Given the description of an element on the screen output the (x, y) to click on. 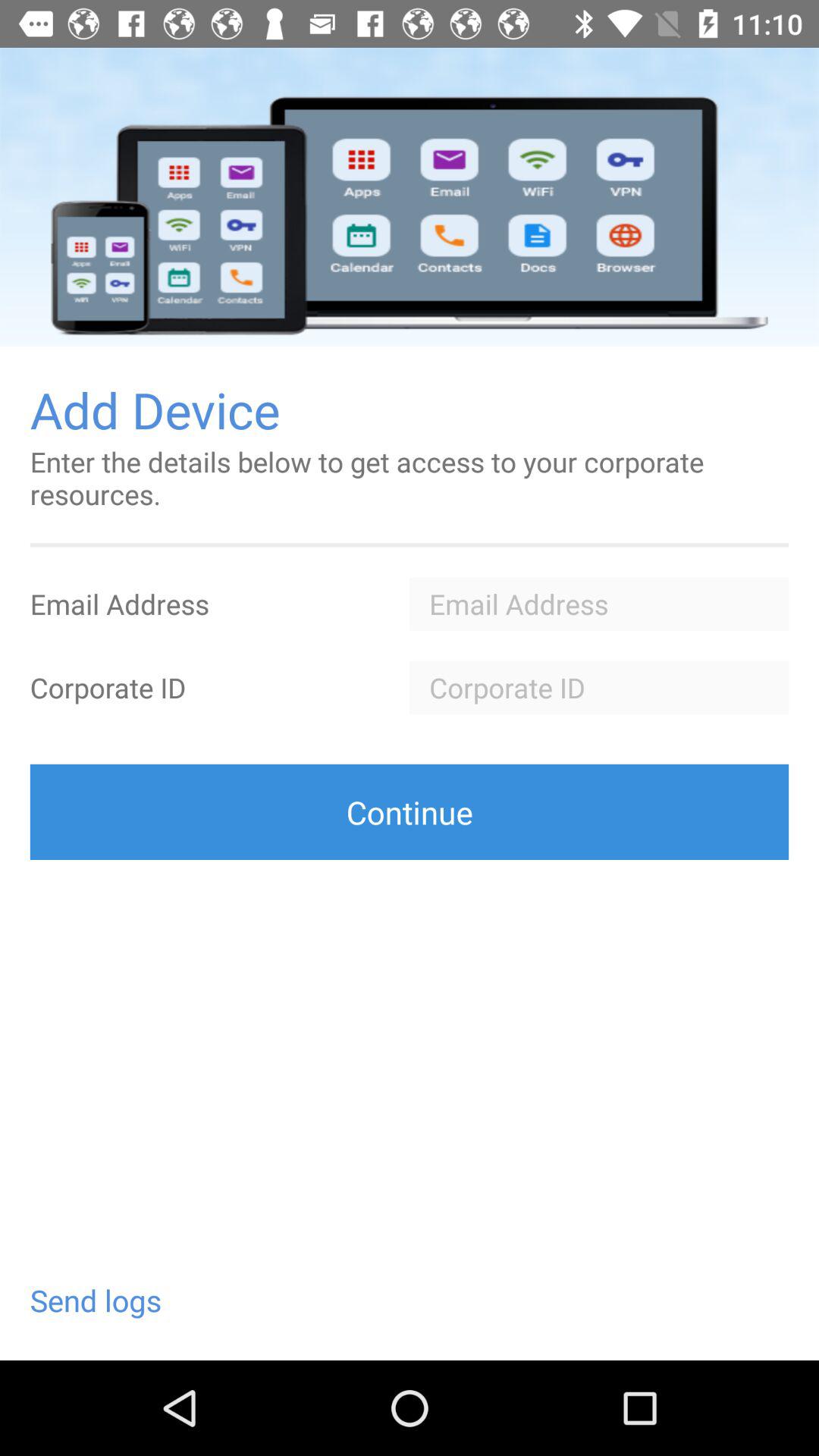
tap the send logs icon (95, 1300)
